Given the description of an element on the screen output the (x, y) to click on. 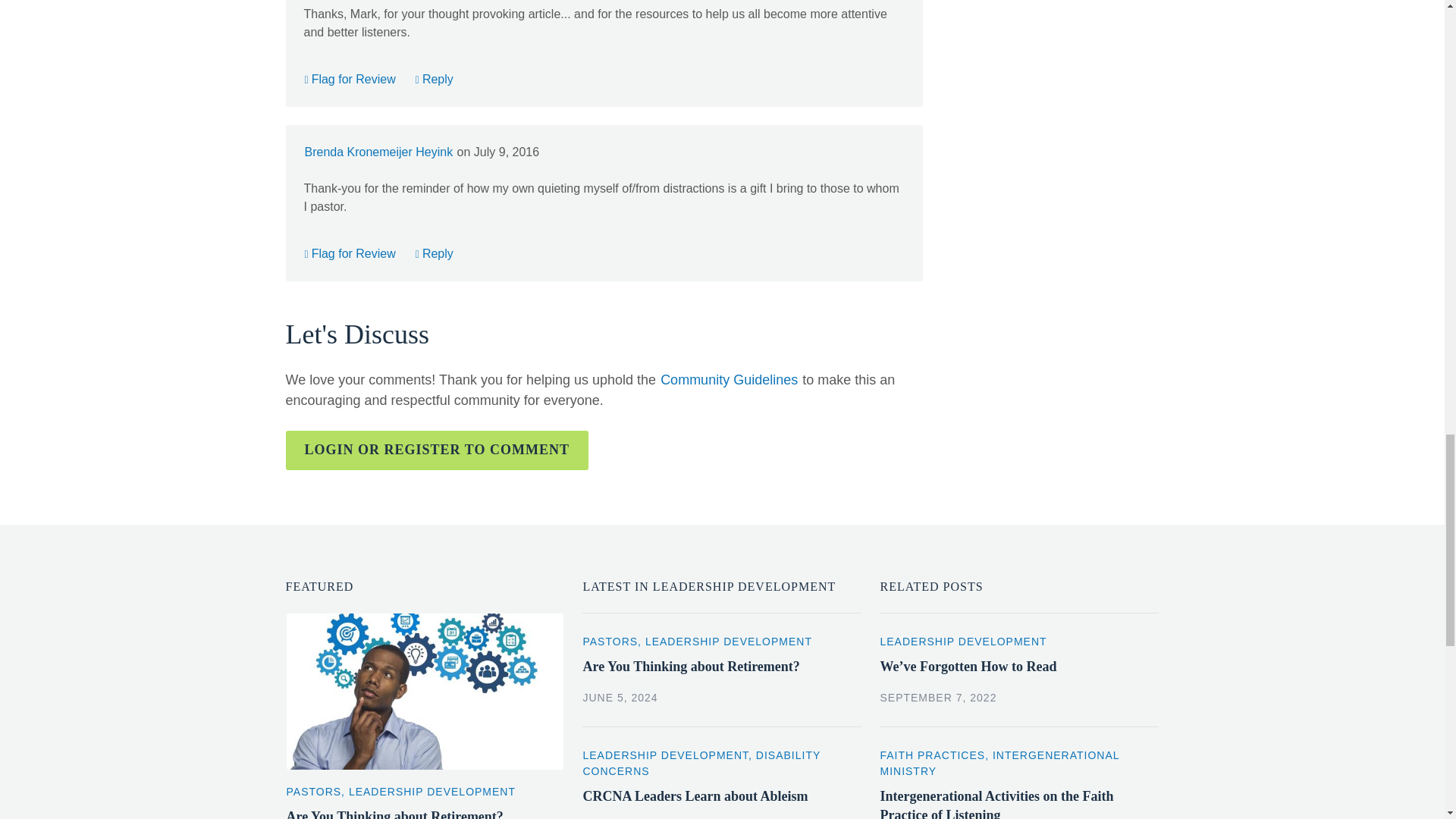
View user profile. (377, 151)
